Given the description of an element on the screen output the (x, y) to click on. 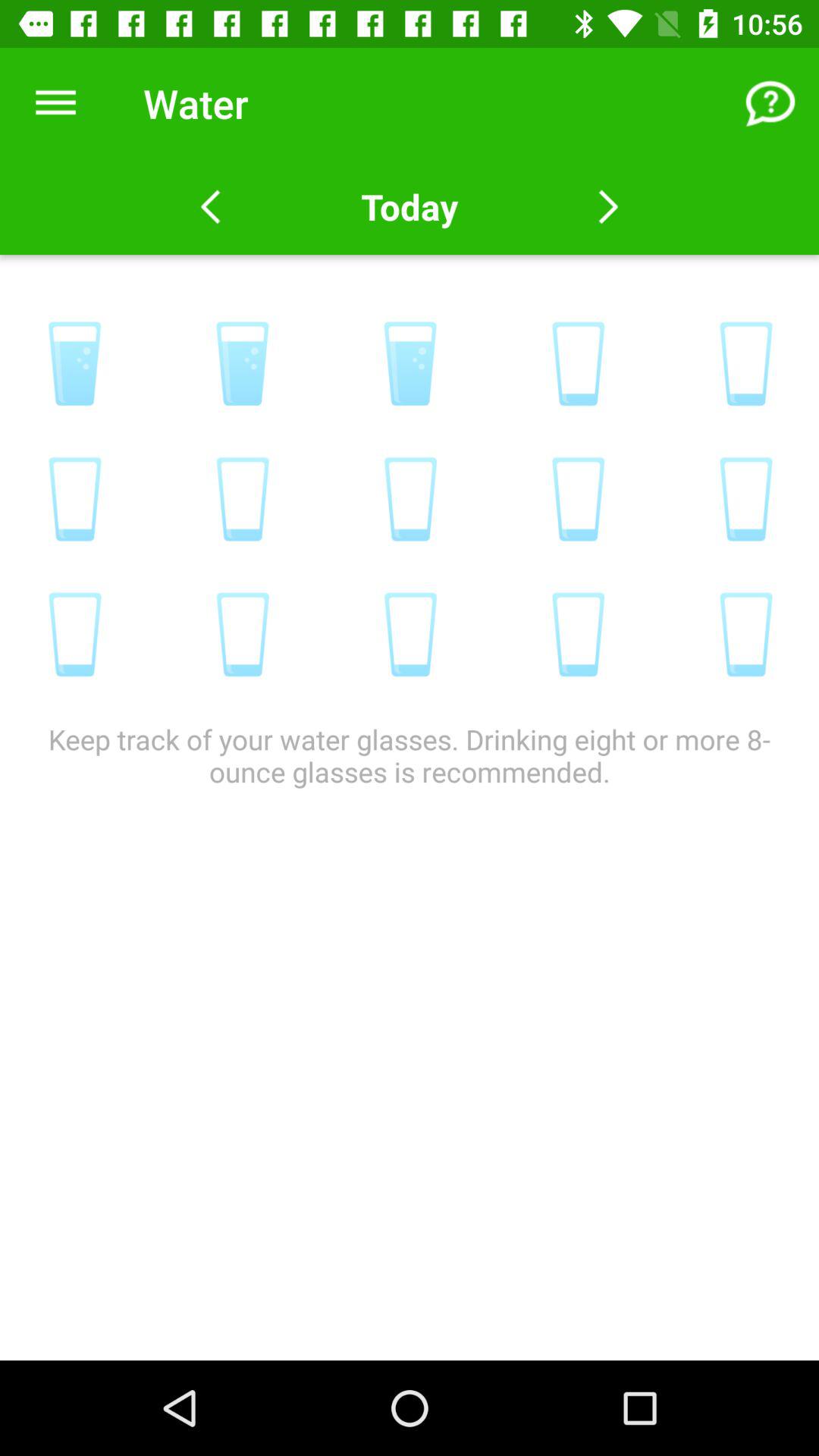
next (608, 206)
